Given the description of an element on the screen output the (x, y) to click on. 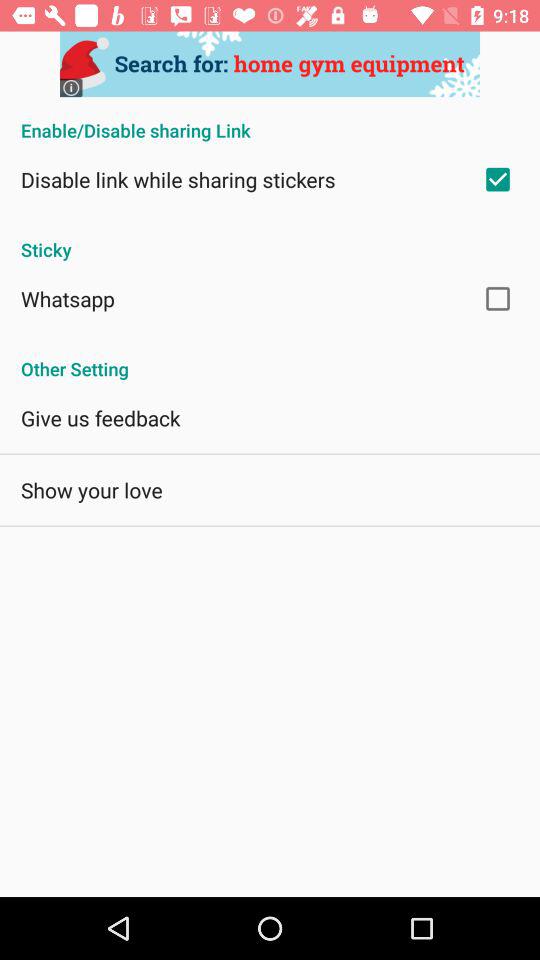
jump until the sticky app (270, 239)
